Given the description of an element on the screen output the (x, y) to click on. 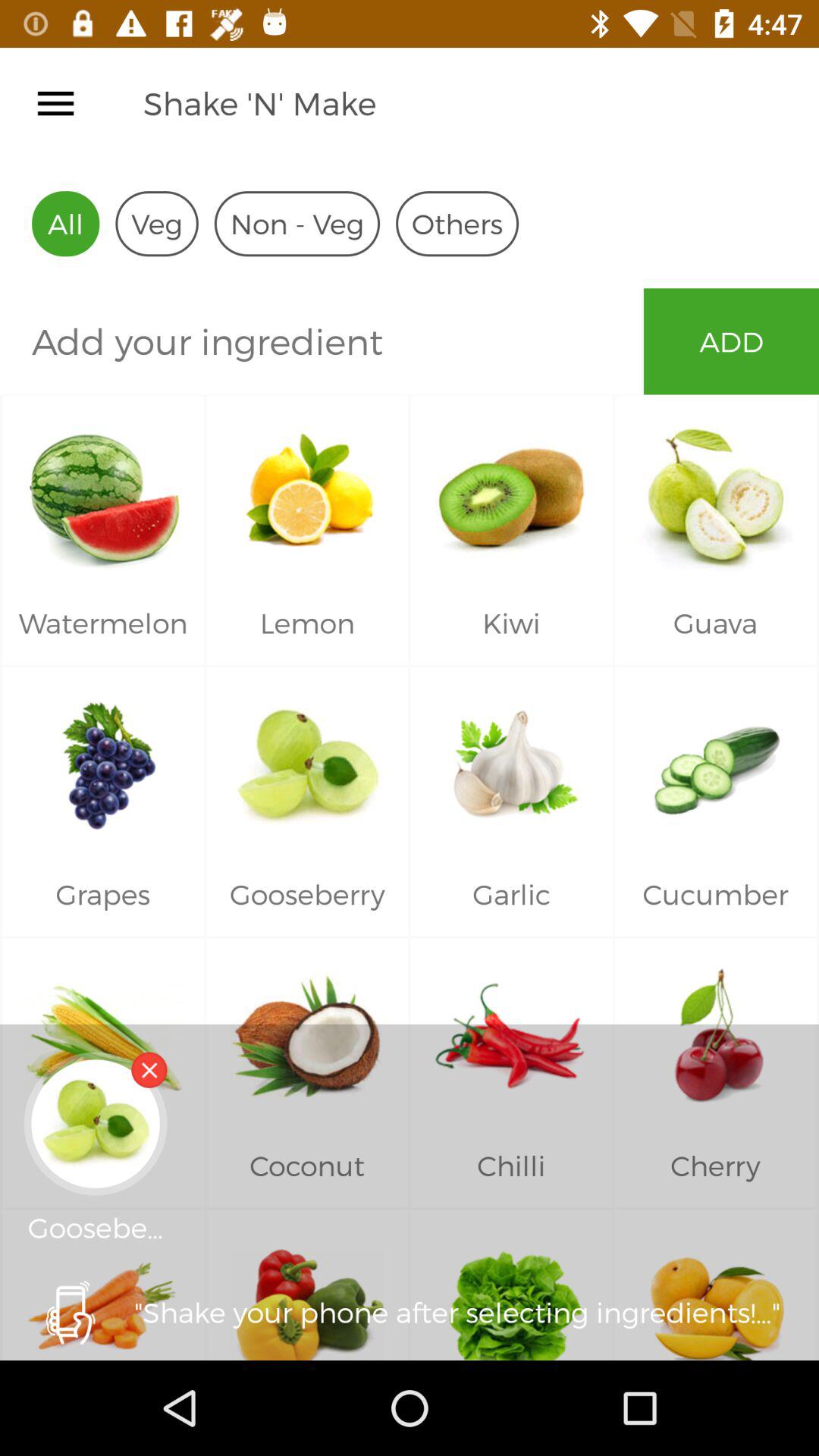
turn on the icon next to shake 'n' make (55, 103)
